Given the description of an element on the screen output the (x, y) to click on. 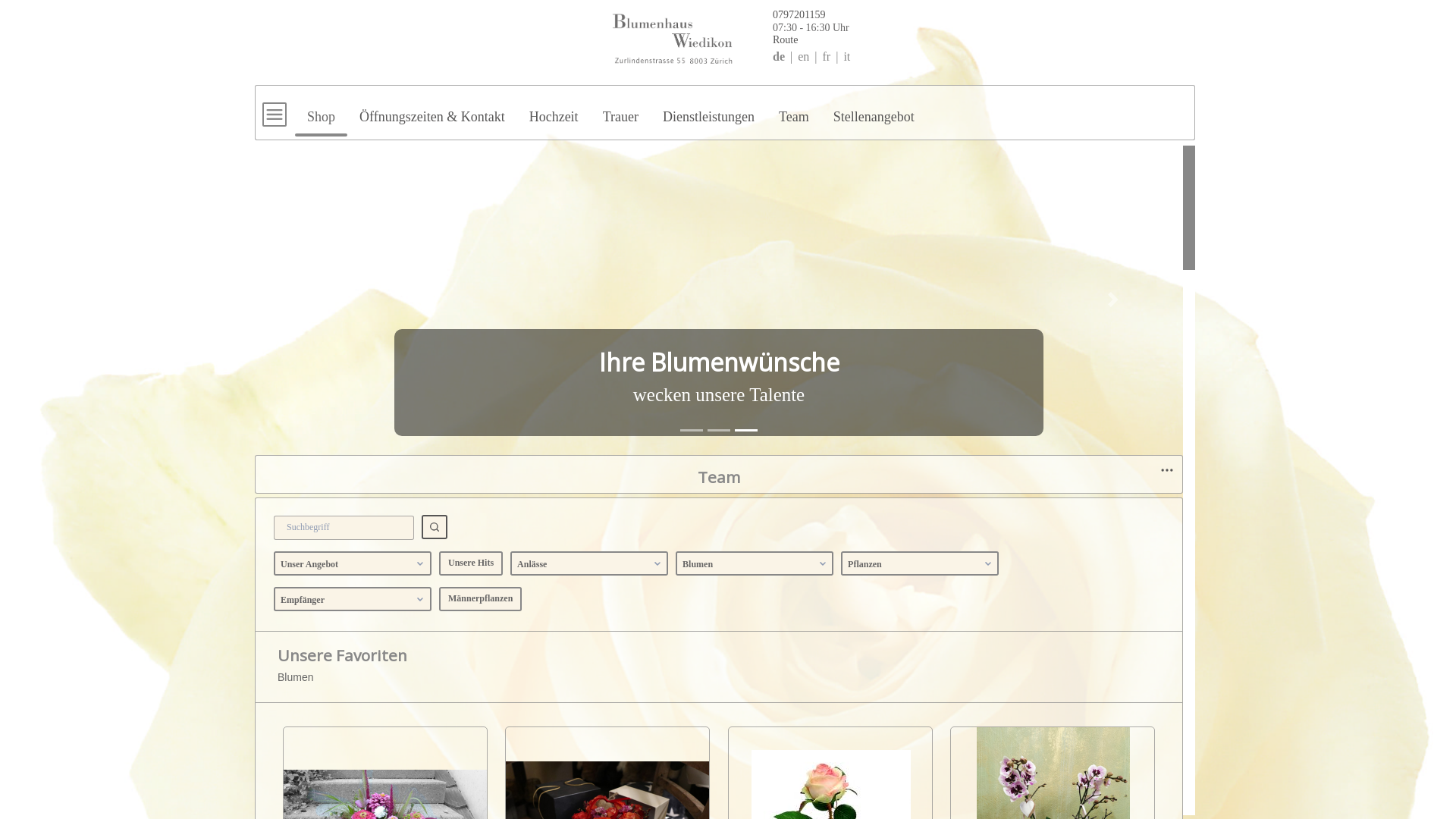
Dienstleistungen Element type: text (708, 109)
0797201159 Element type: text (733, 12)
Route Element type: text (719, 38)
Trauer Element type: text (620, 109)
Team Element type: text (793, 109)
Impressum & Datenschutz Element type: text (561, 376)
Blumenhaus Wiedikon
bei Google Place Element type: text (553, 414)
Shop Element type: text (320, 109)
info@blumenhaus-wiedikon.ch Element type: text (572, 353)
Hochzeit Element type: text (553, 109)
Stellenangebot Element type: text (873, 109)
0797201159 Element type: text (531, 330)
